Given the description of an element on the screen output the (x, y) to click on. 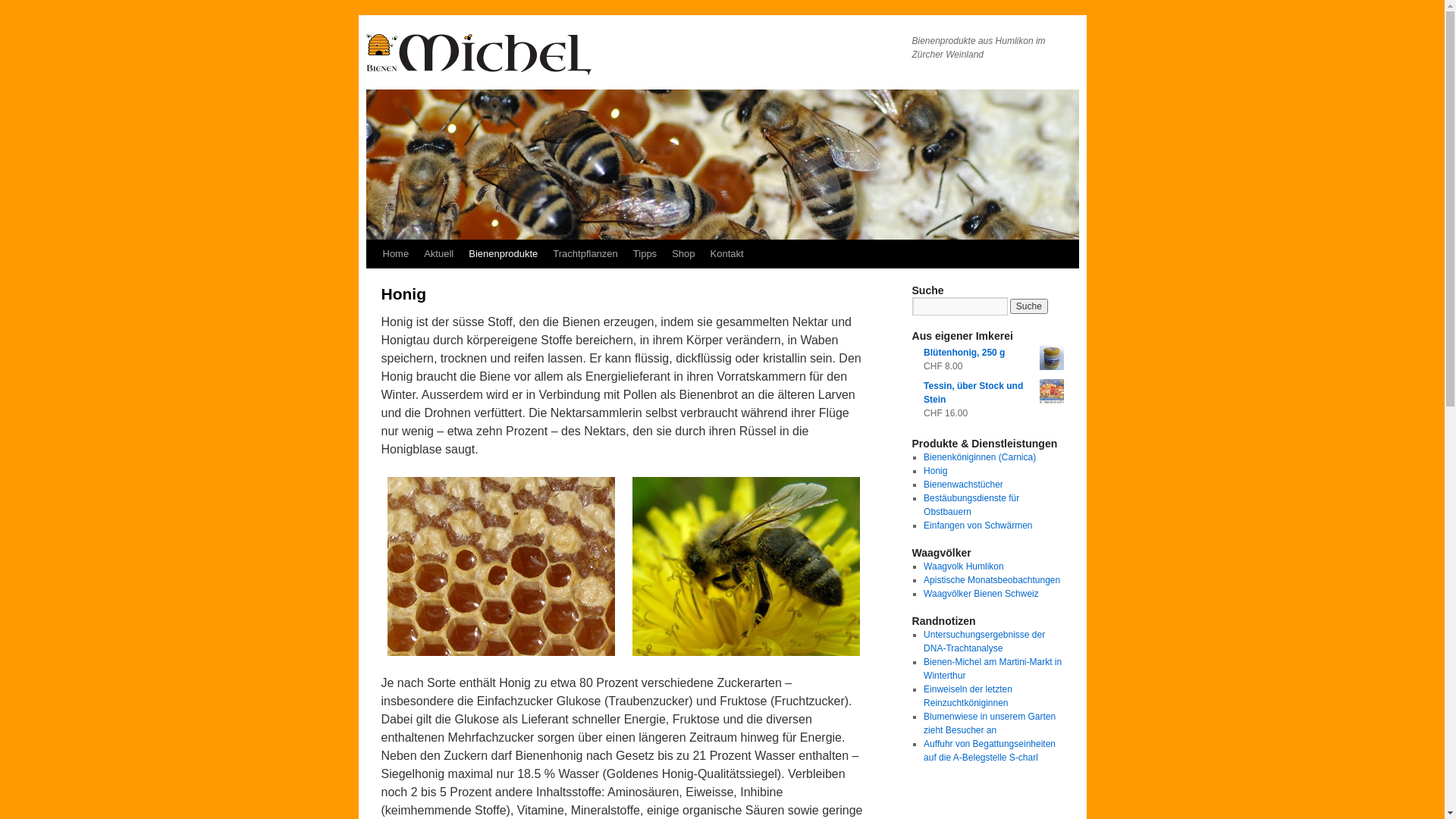
Honig Element type: text (935, 470)
Aktuell Element type: text (438, 253)
Home Element type: text (395, 253)
Waagvolk Humlikon Element type: text (963, 566)
Bienenprodukte Element type: text (503, 253)
Kontakt Element type: text (726, 253)
Untersuchungsergebnisse der DNA-Trachtanalyse Element type: text (983, 641)
Trachtpflanzen Element type: text (585, 253)
Blumenwiese in unserem Garten zieht Besucher an Element type: text (989, 723)
Bienen-Michel am Martini-Markt in Winterthur Element type: text (992, 668)
Suche Element type: text (1029, 305)
Zum Inhalt springen Element type: text (372, 281)
Apistische Monatsbeobachtungen Element type: text (991, 579)
Tipps Element type: text (644, 253)
Shop Element type: text (683, 253)
